Given the description of an element on the screen output the (x, y) to click on. 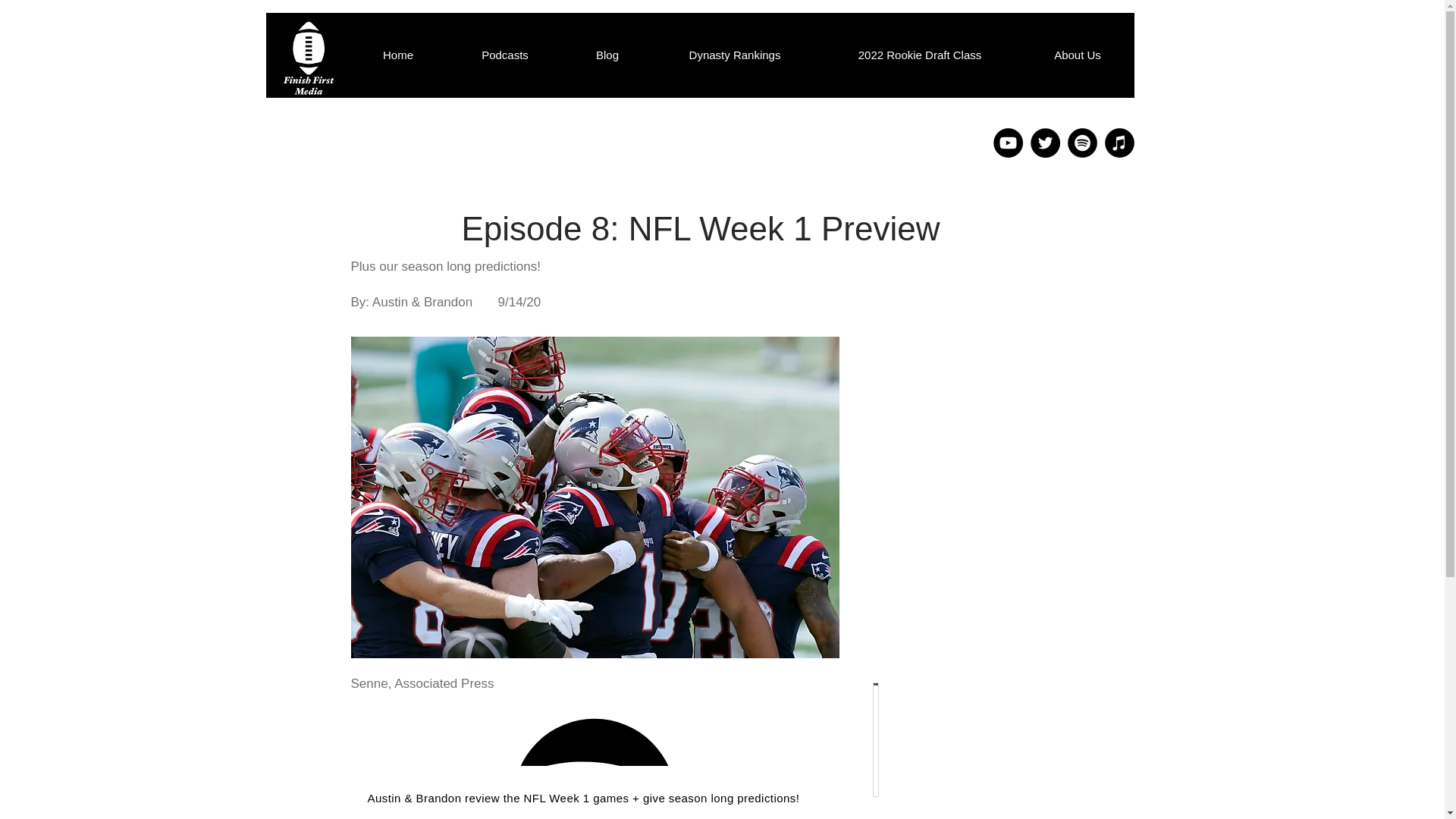
About Us (1077, 55)
Home (397, 55)
Blog (607, 55)
2022 Rookie Draft Class (919, 55)
Spotify Player (593, 735)
Podcasts (504, 55)
Spotify Player (593, 736)
